Given the description of an element on the screen output the (x, y) to click on. 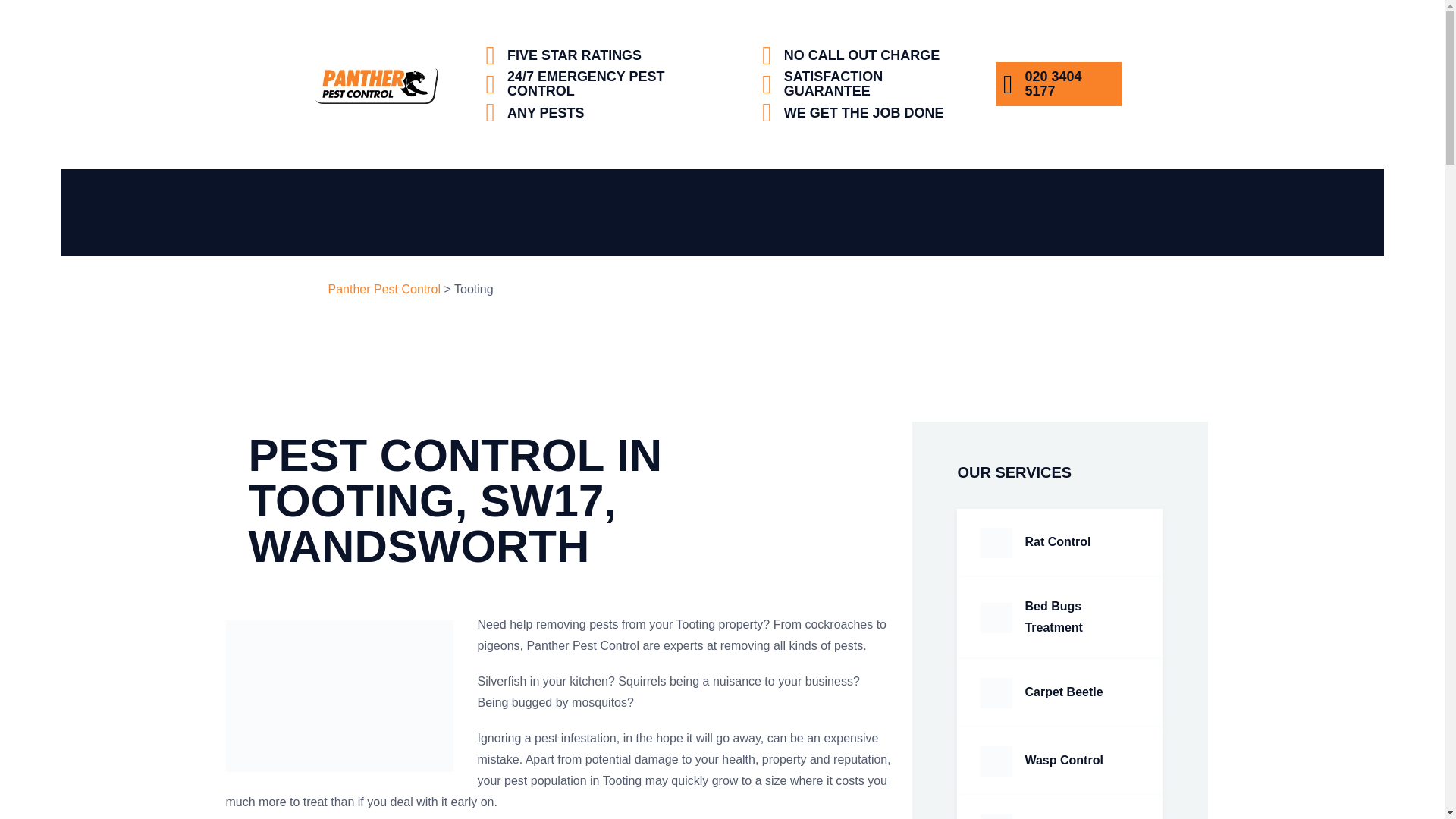
Panther Pest Control (384, 288)
Go to Panther Pest Control. (384, 288)
